Given the description of an element on the screen output the (x, y) to click on. 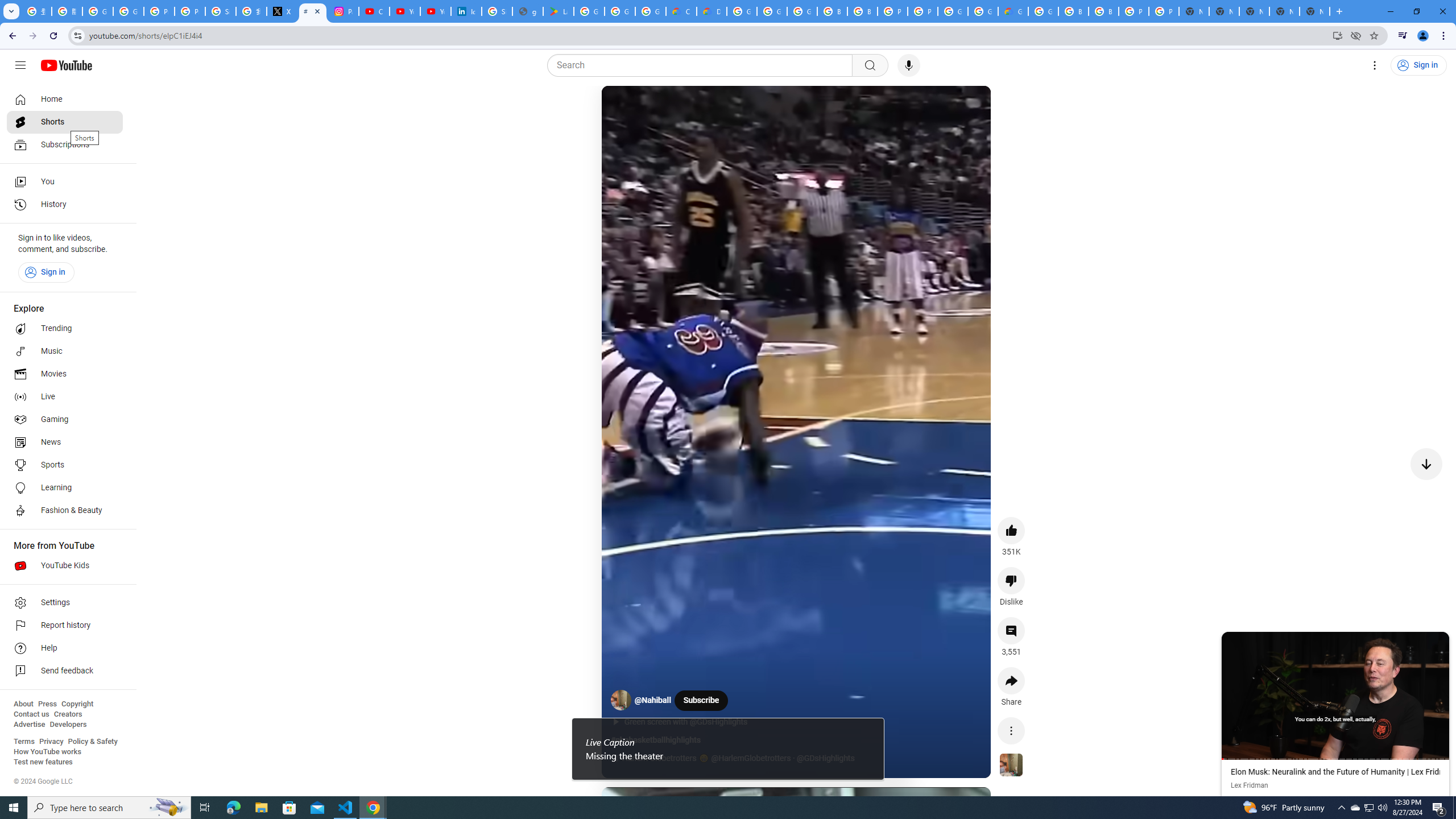
Sign in - Google Accounts (220, 11)
Developers (68, 724)
Guide (20, 65)
Google Workspace - Specific Terms (619, 11)
Dislike this video (1011, 580)
Next (SHIFT+n) (1392, 694)
See more videos using this sound (1011, 765)
Google Cloud Platform (1042, 11)
music icon (615, 758)
Seek slider (1334, 758)
YouTube Kids (64, 565)
